Given the description of an element on the screen output the (x, y) to click on. 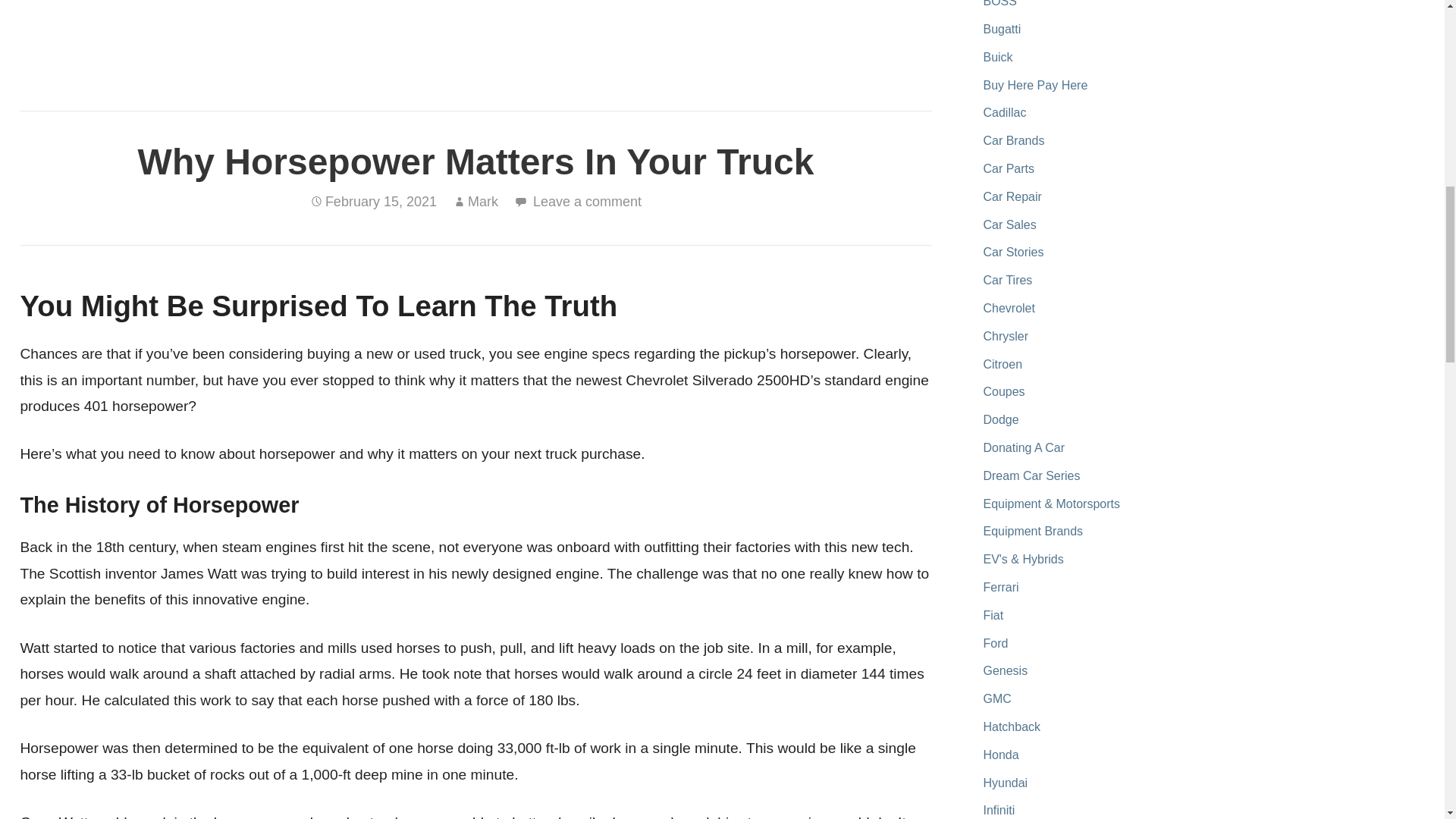
Mark (482, 201)
Posts by Mark (482, 201)
Leave a comment (587, 201)
